Given the description of an element on the screen output the (x, y) to click on. 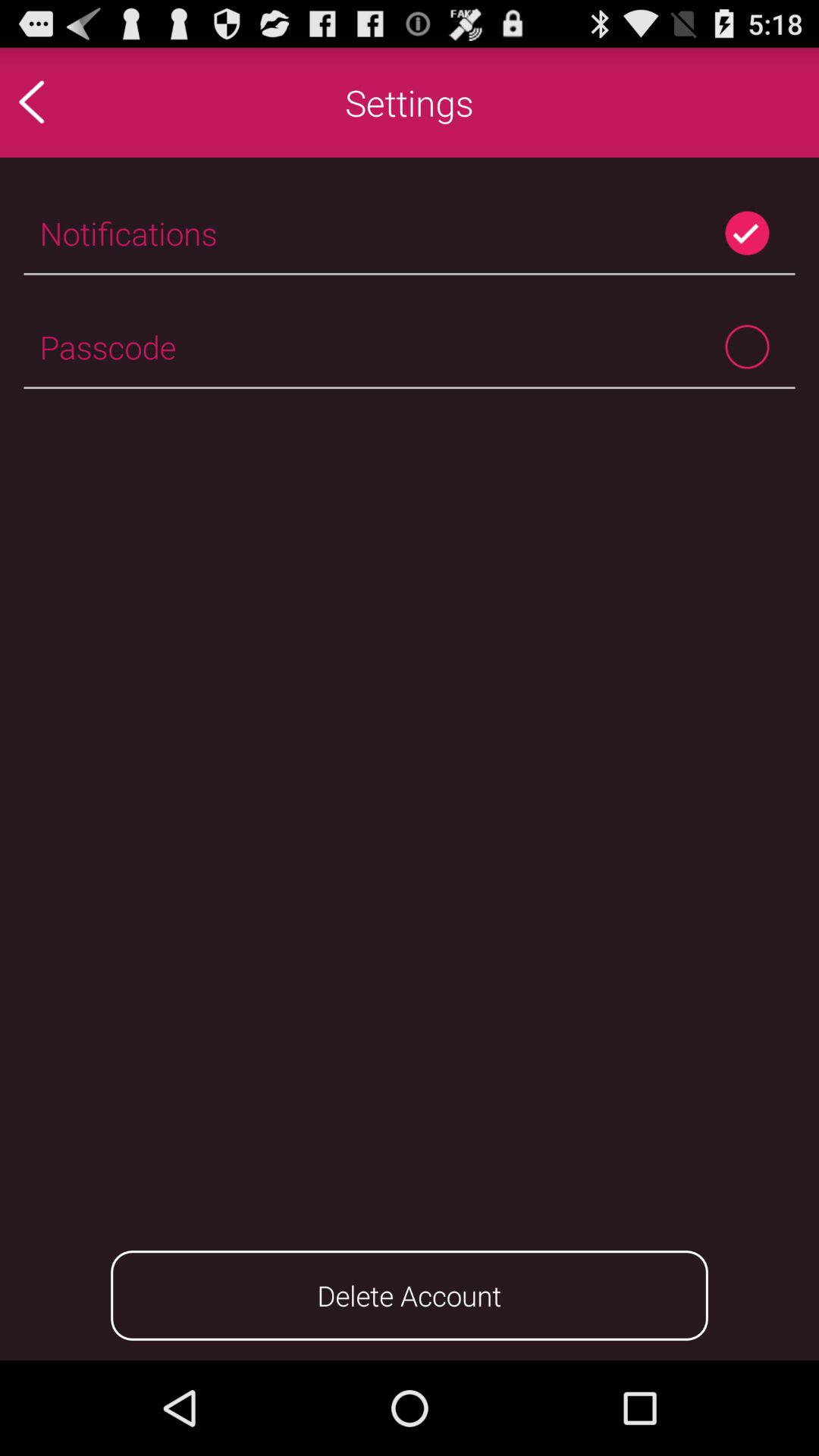
tap the icon to the left of the settings app (63, 102)
